Given the description of an element on the screen output the (x, y) to click on. 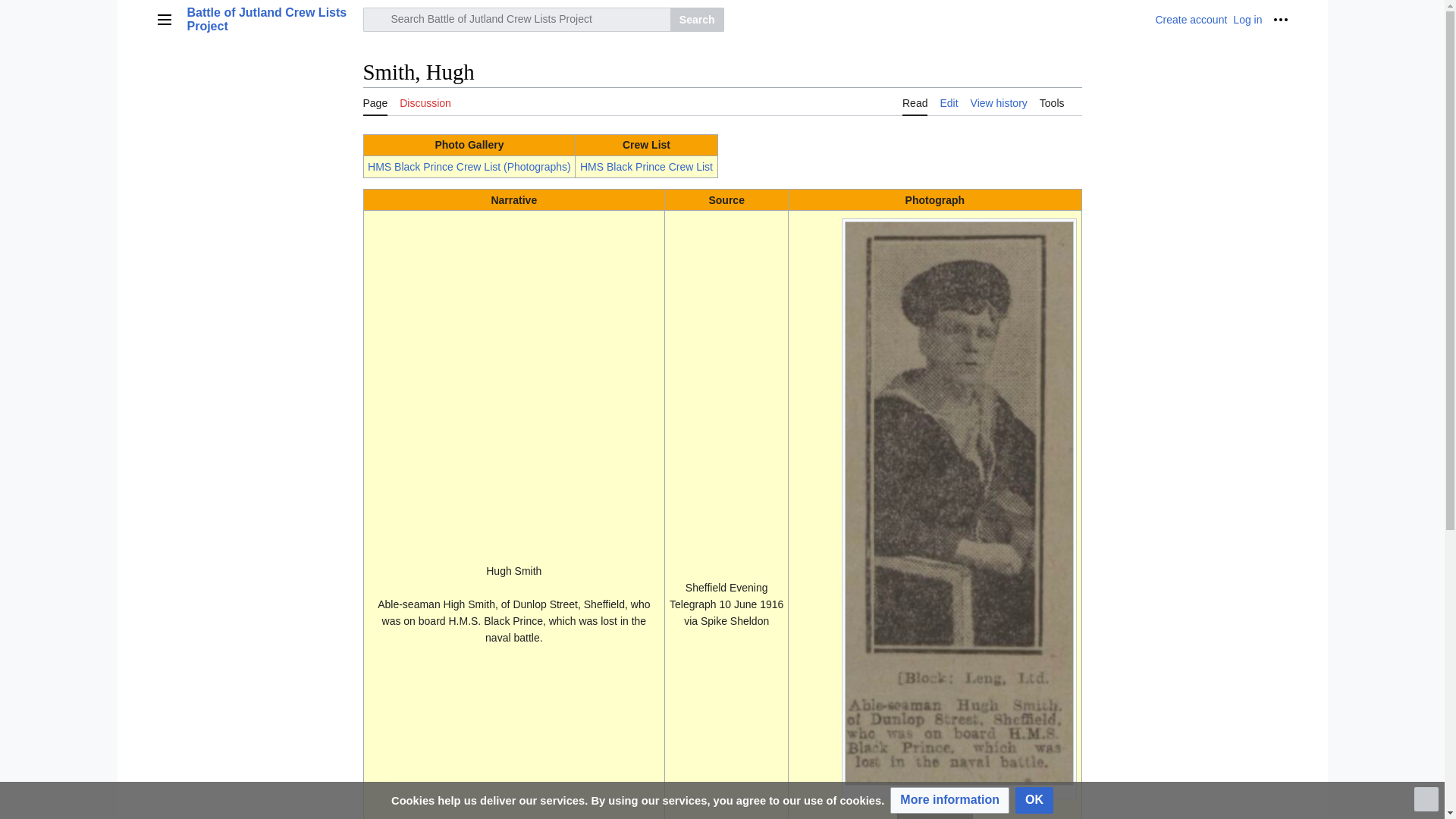
More options (1280, 19)
Create account (1190, 19)
Log in (1247, 19)
View history (999, 101)
HMS Black Prince Crew List (646, 166)
Search (696, 19)
Read (914, 101)
Discussion (424, 101)
Battle of Jutland Crew Lists Project (270, 19)
